Given the description of an element on the screen output the (x, y) to click on. 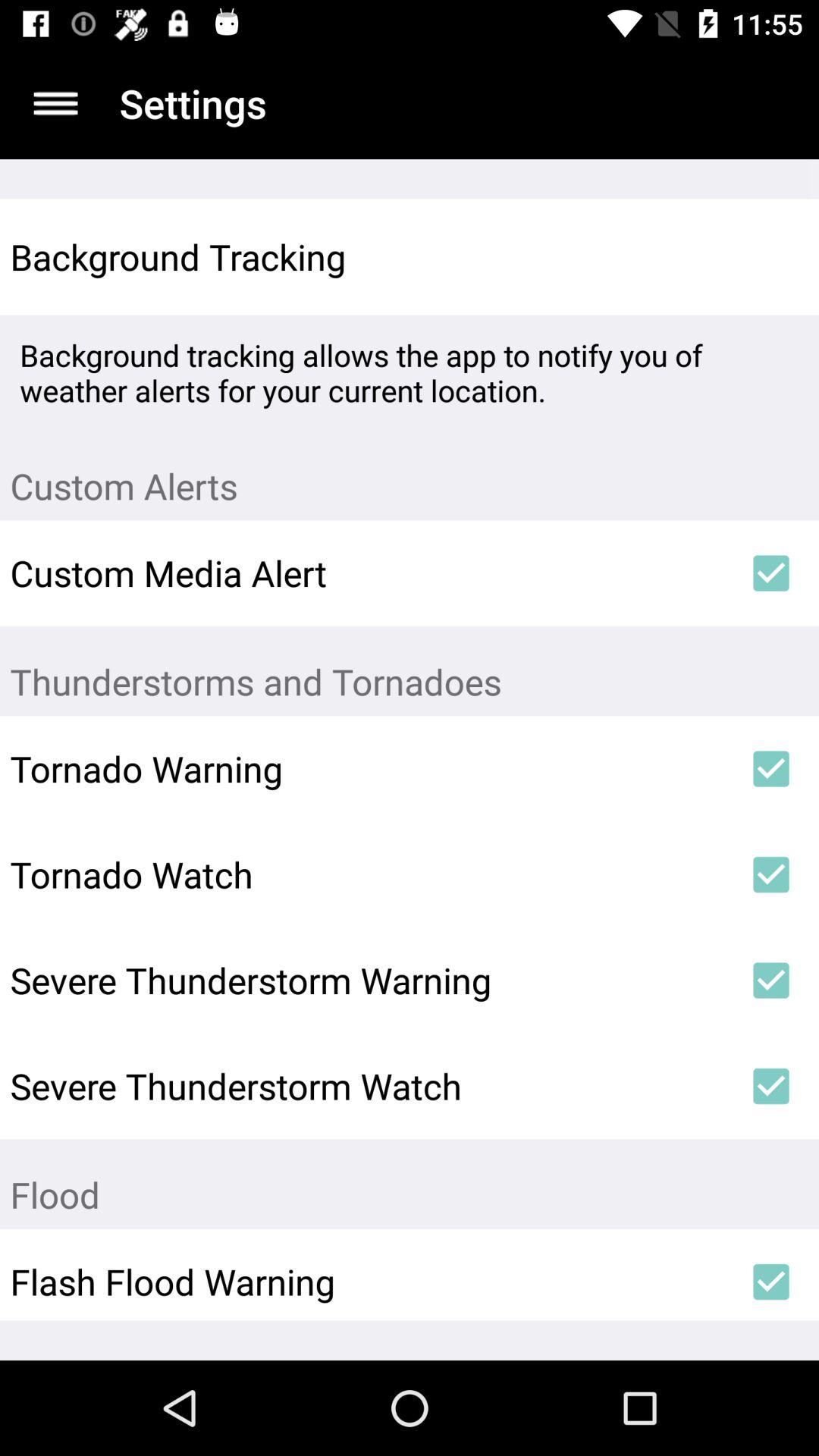
choose the icon above the flood item (771, 1086)
